Given the description of an element on the screen output the (x, y) to click on. 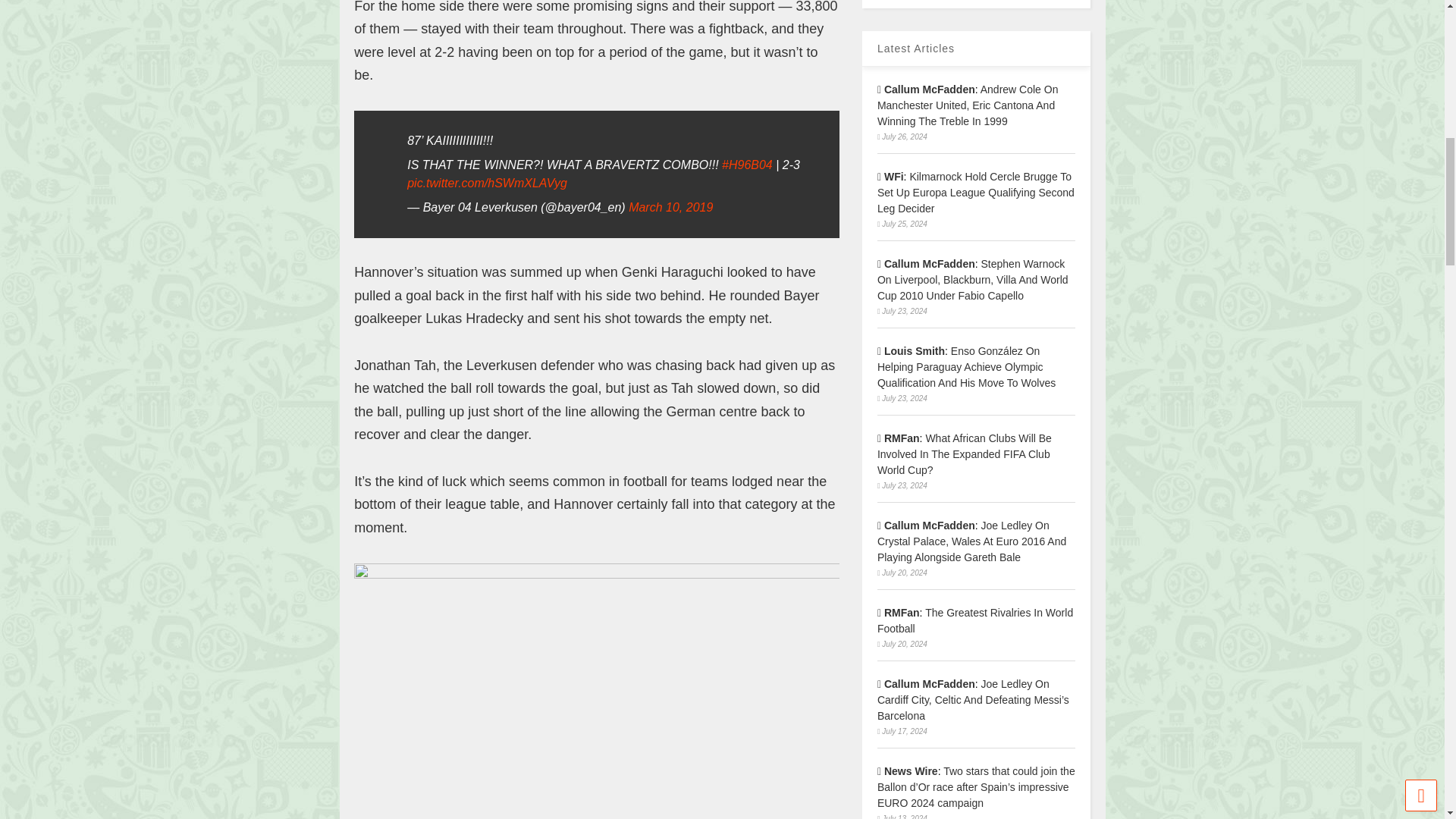
March 10, 2019 (670, 206)
